Given the description of an element on the screen output the (x, y) to click on. 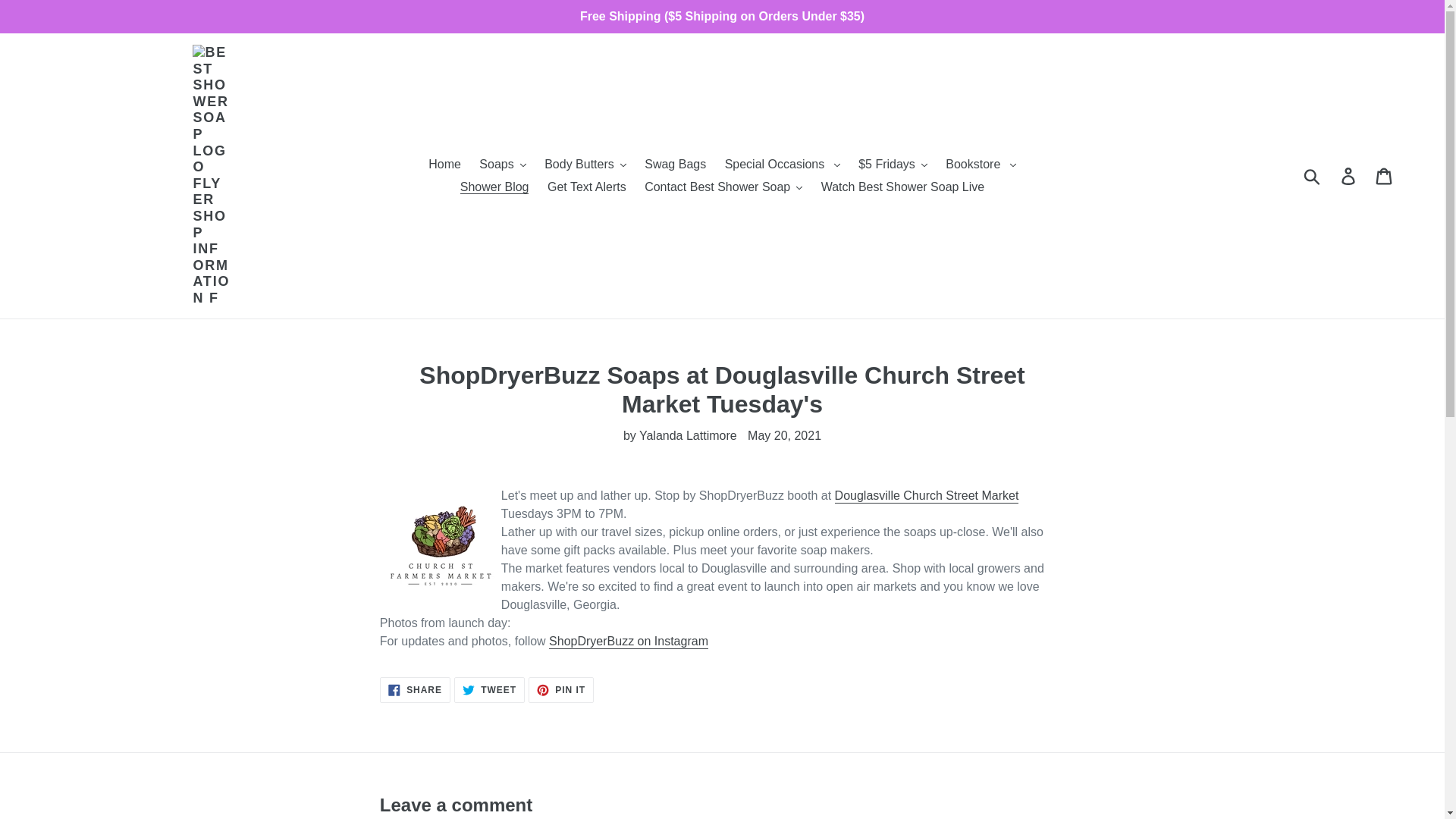
ShopDryerBuzz on Instagram (627, 641)
Swag Bags (675, 164)
Home (444, 164)
ShopDryerBuzz at Douglasville Church Street Market (926, 495)
